Given the description of an element on the screen output the (x, y) to click on. 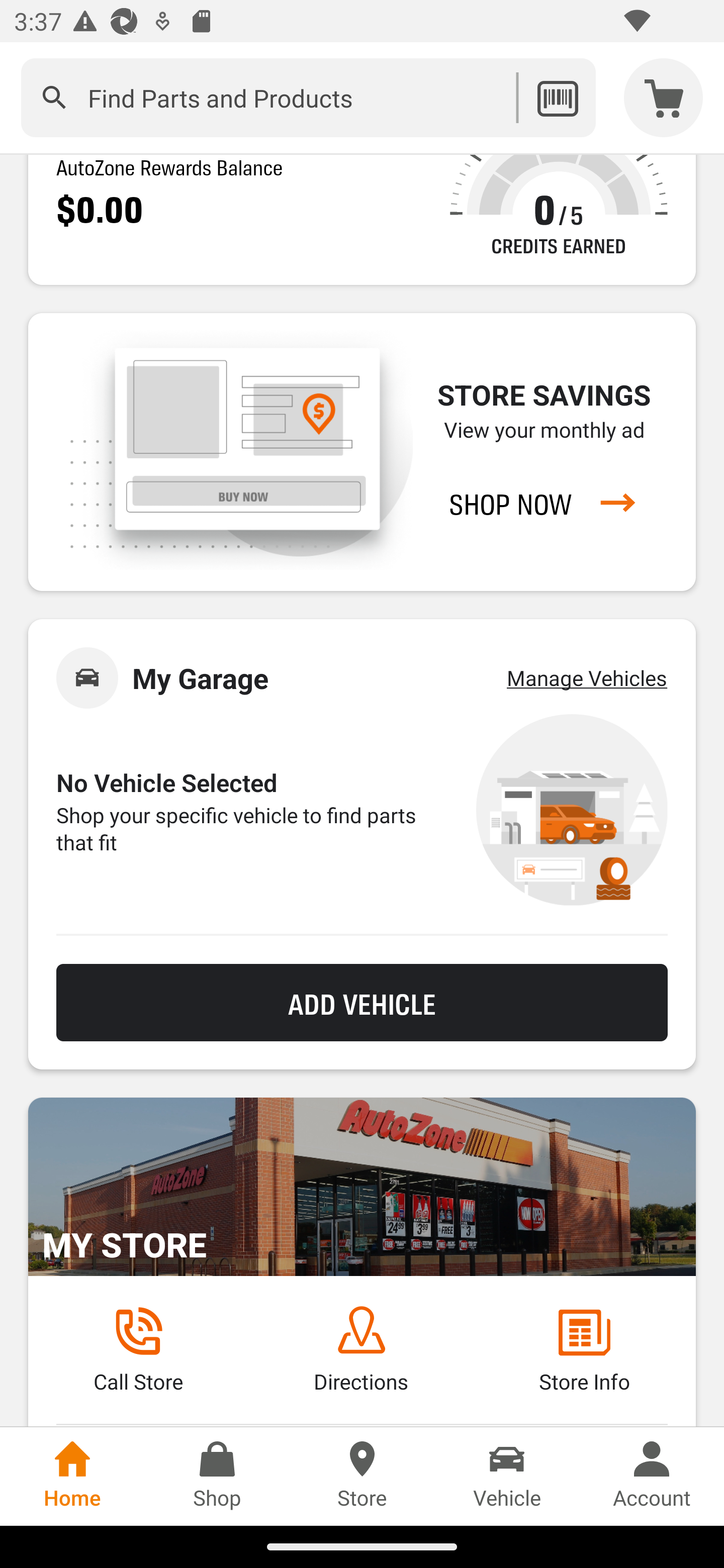
 scan-product-to-search  (557, 97)
 (54, 97)
Cart, no items  (663, 97)
Manage Vehicles (586, 677)
ADD VEHICLE (361, 1002)
Call Store  Call Store (138, 1349)
Directions  Directions (361, 1349)
Store Info  Store Info (584, 1349)
Home (72, 1475)
Shop (216, 1475)
Store (361, 1475)
Vehicle (506, 1475)
Account (651, 1475)
